Given the description of an element on the screen output the (x, y) to click on. 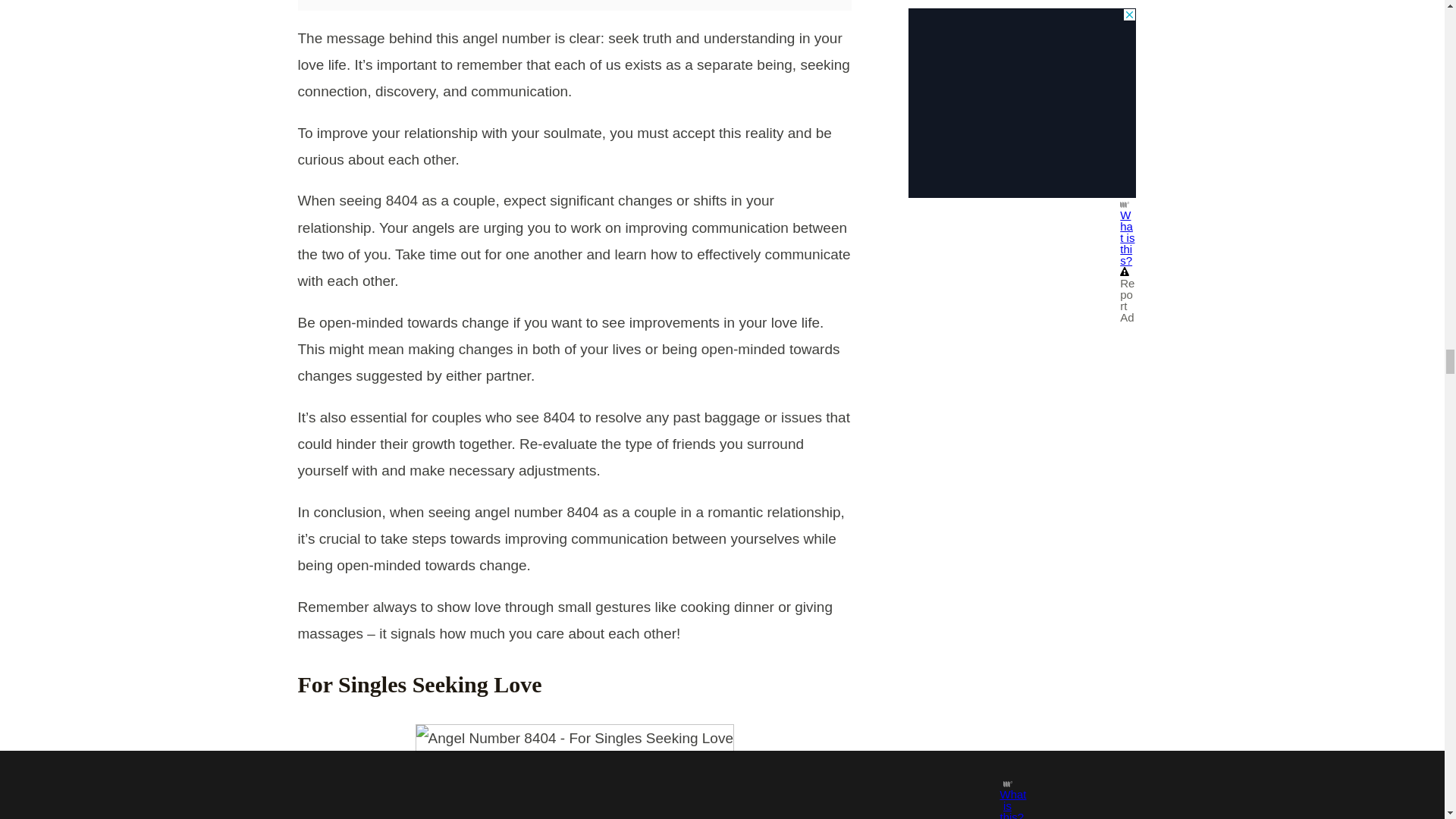
Angel Number 8404 - For Singles Seeking Love (573, 737)
